Given the description of an element on the screen output the (x, y) to click on. 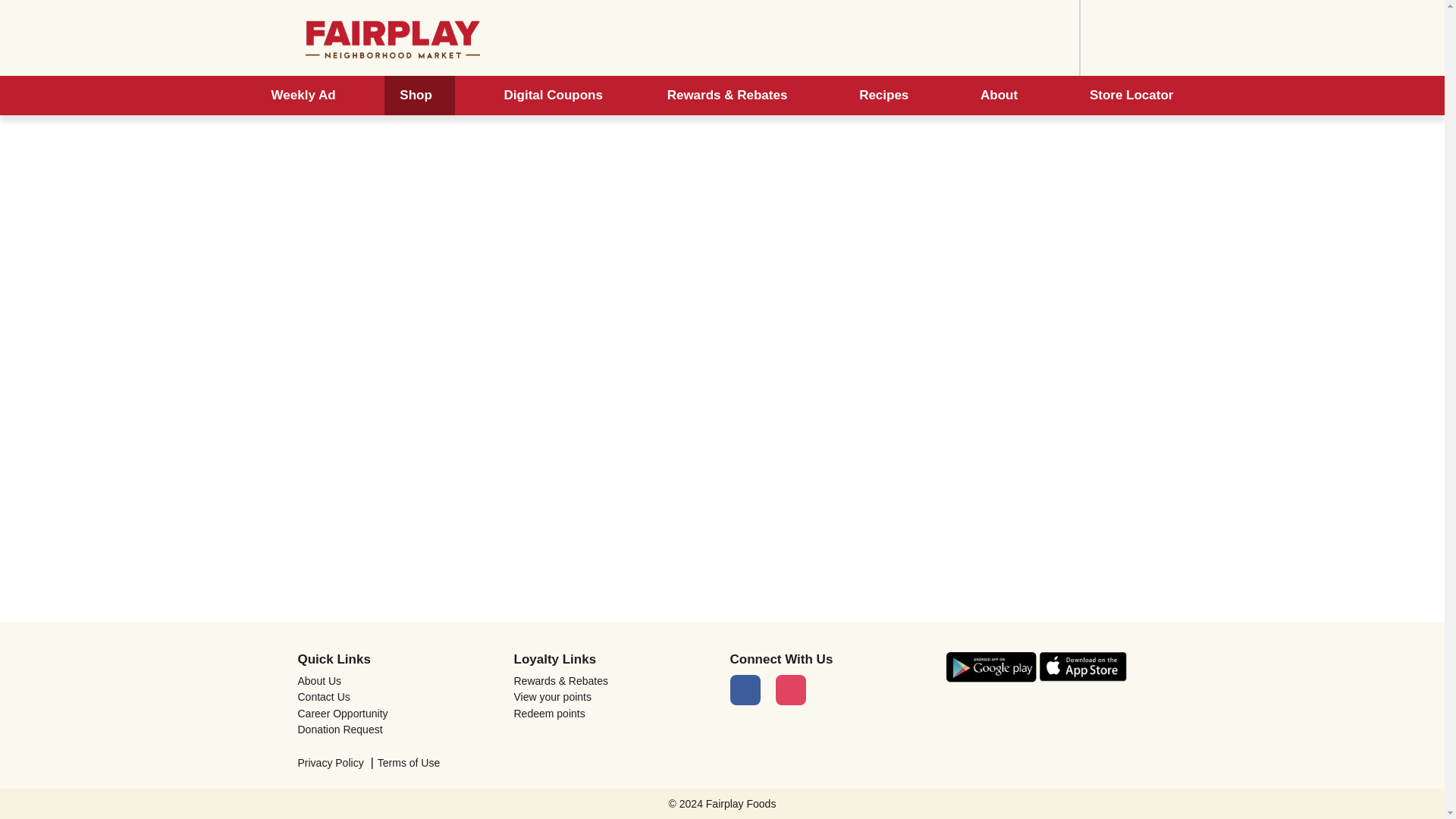
About Us (397, 680)
Career Opportunity (397, 713)
Digital Coupons (553, 95)
Donation Request (397, 729)
Weekly Ad (303, 95)
Recipes (887, 95)
About (1003, 95)
Shop (419, 95)
Store Locator (1131, 95)
Contact Us (397, 696)
